Given the description of an element on the screen output the (x, y) to click on. 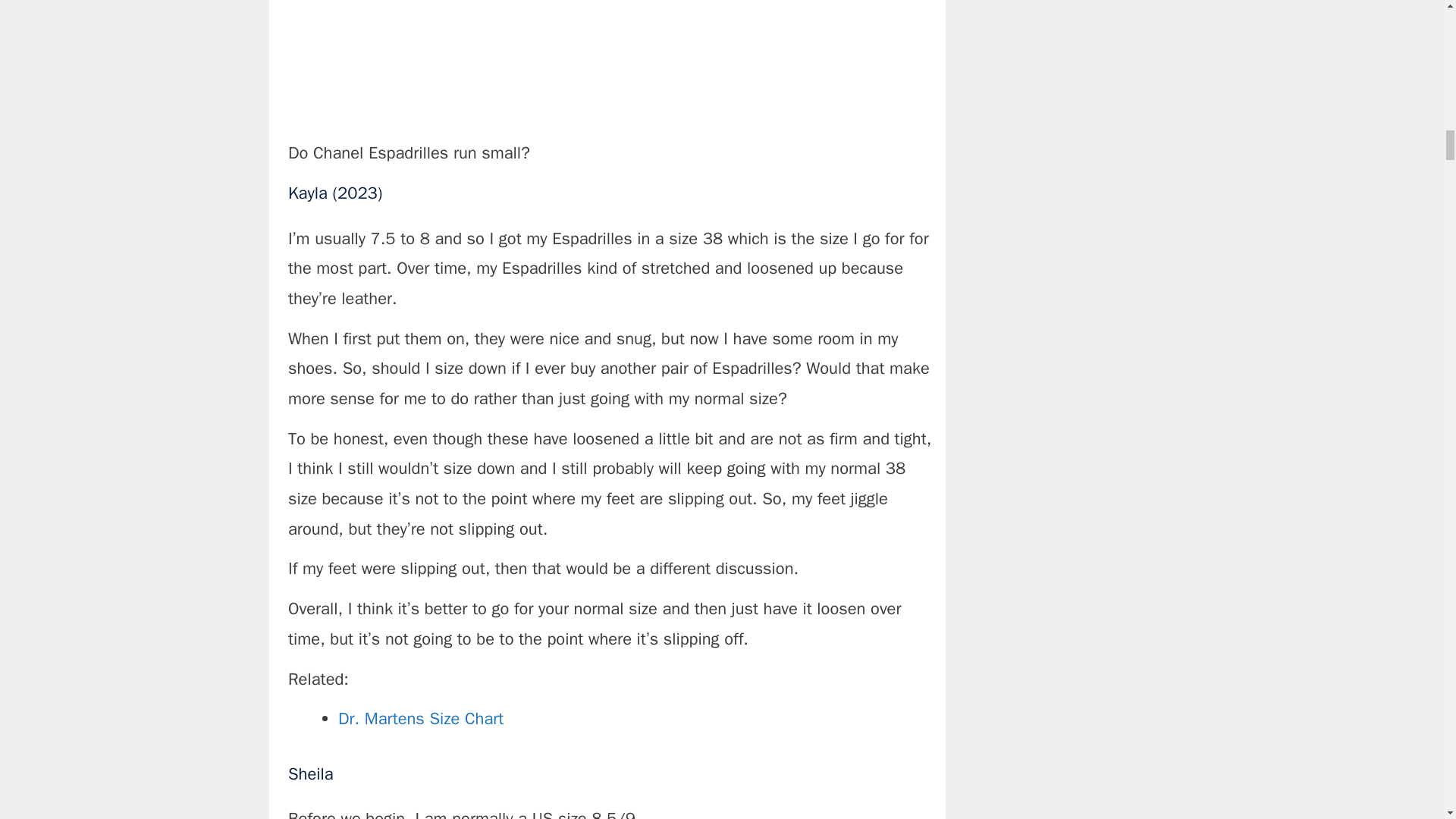
Dr. Martens Size Chart (420, 718)
